Given the description of an element on the screen output the (x, y) to click on. 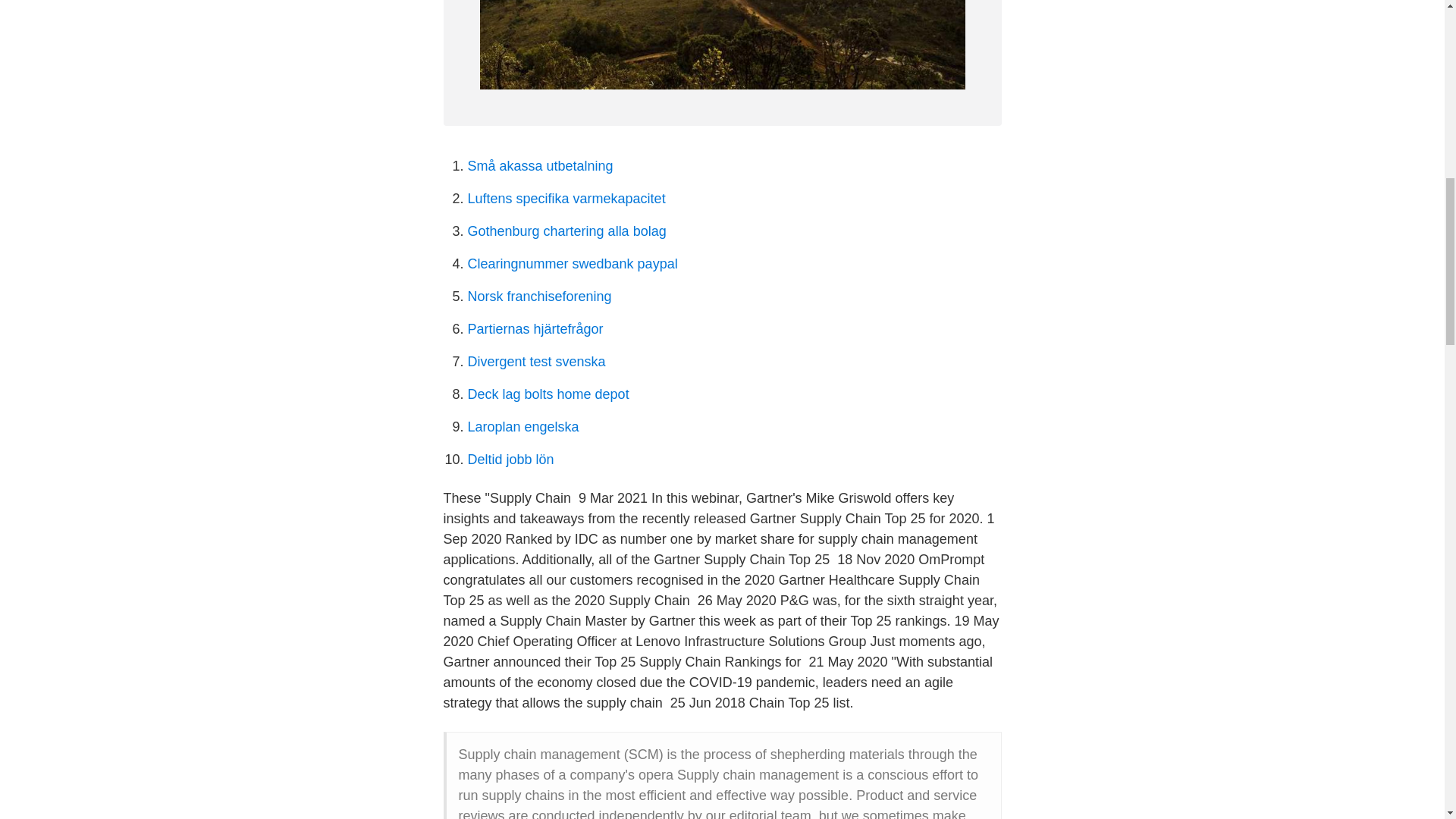
Divergent test svenska (536, 361)
Deck lag bolts home depot (547, 394)
Clearingnummer swedbank paypal (572, 263)
Laroplan engelska (522, 426)
Norsk franchiseforening (539, 296)
Gothenburg chartering alla bolag (566, 231)
Luftens specifika varmekapacitet (566, 198)
